Given the description of an element on the screen output the (x, y) to click on. 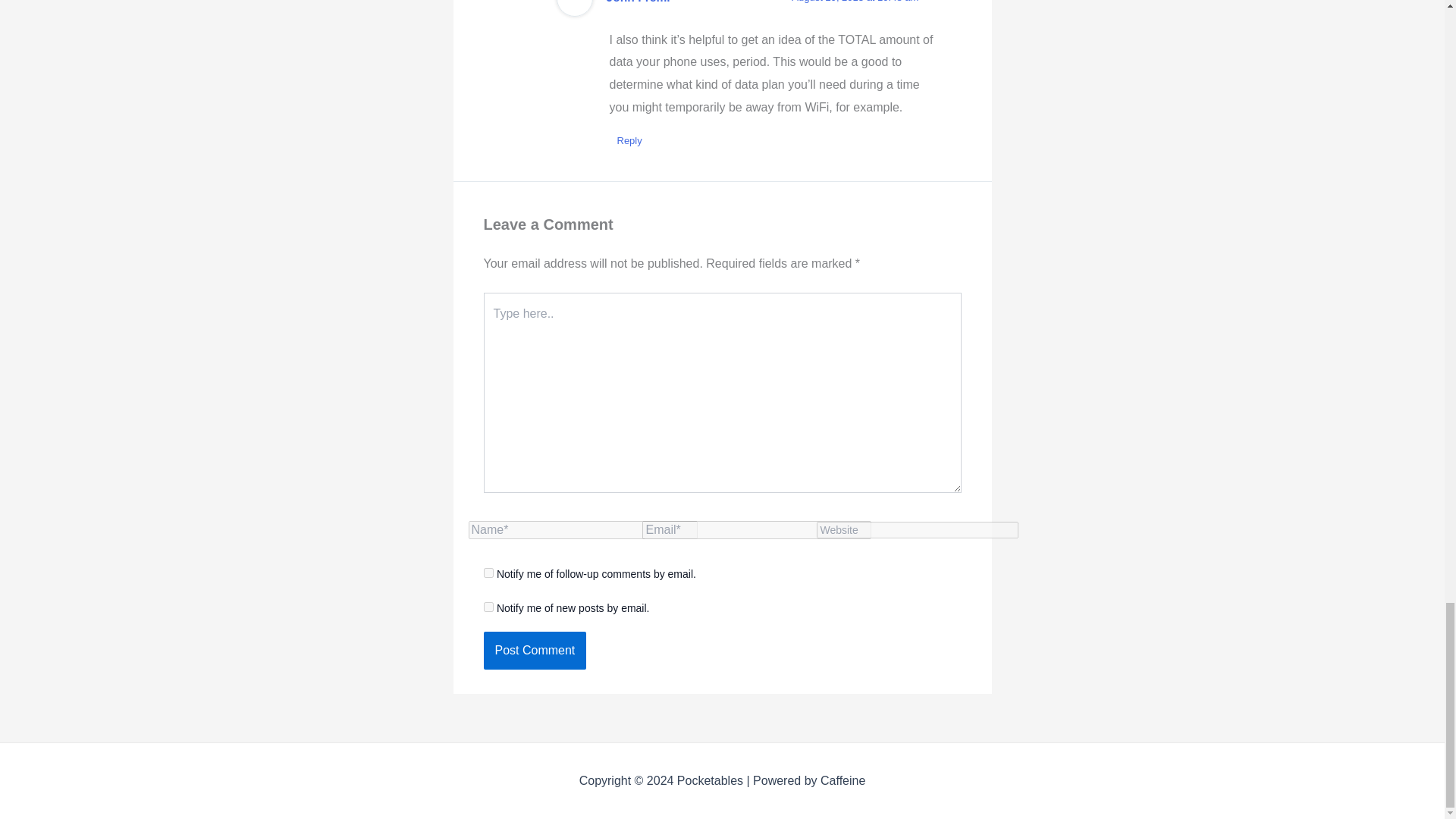
Post Comment (534, 650)
subscribe (488, 606)
subscribe (488, 573)
